Given the description of an element on the screen output the (x, y) to click on. 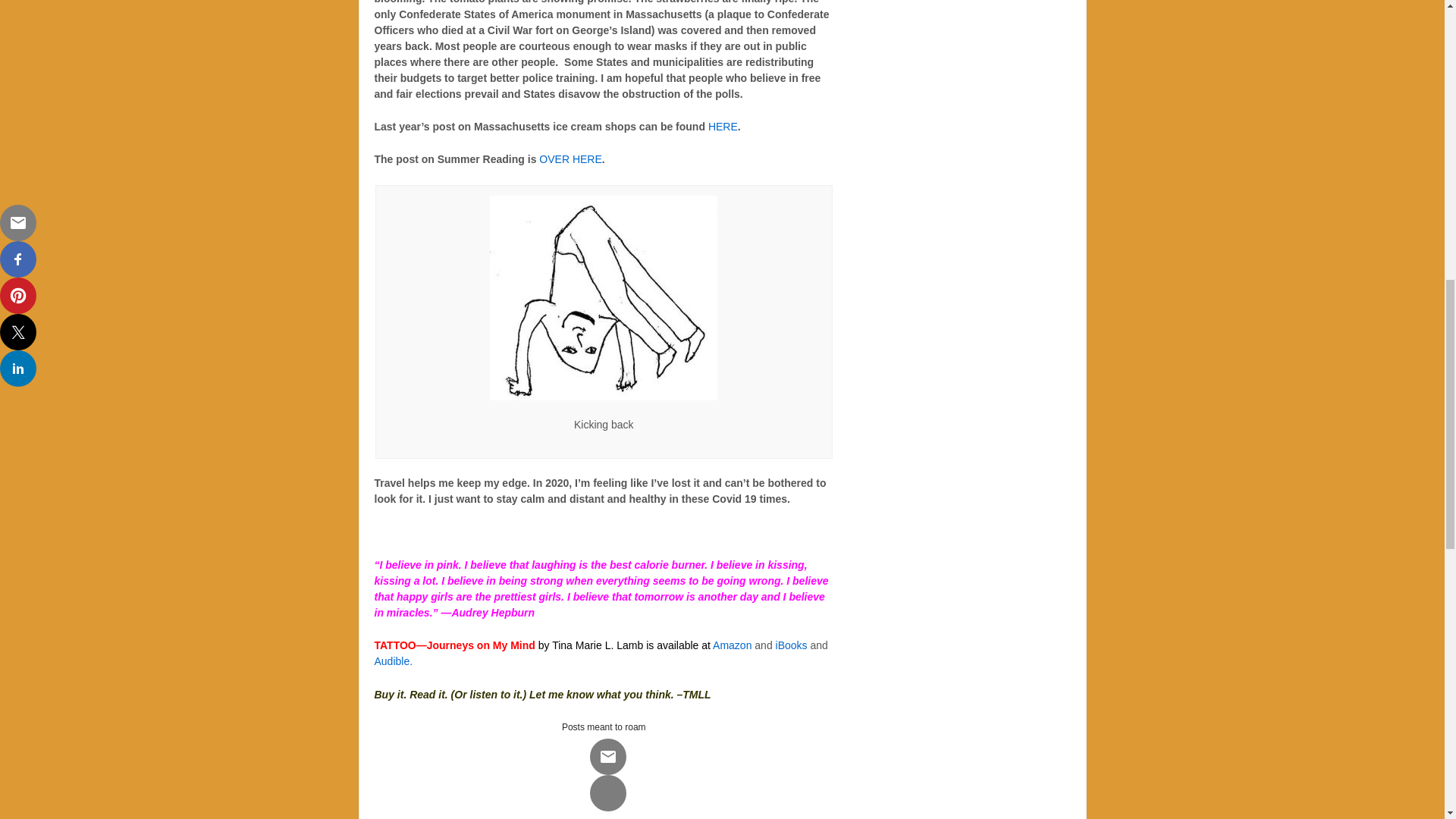
OVER HERE (569, 159)
HERE (722, 126)
Amazon (732, 645)
iBooks (792, 645)
Audible. (393, 661)
